Given the description of an element on the screen output the (x, y) to click on. 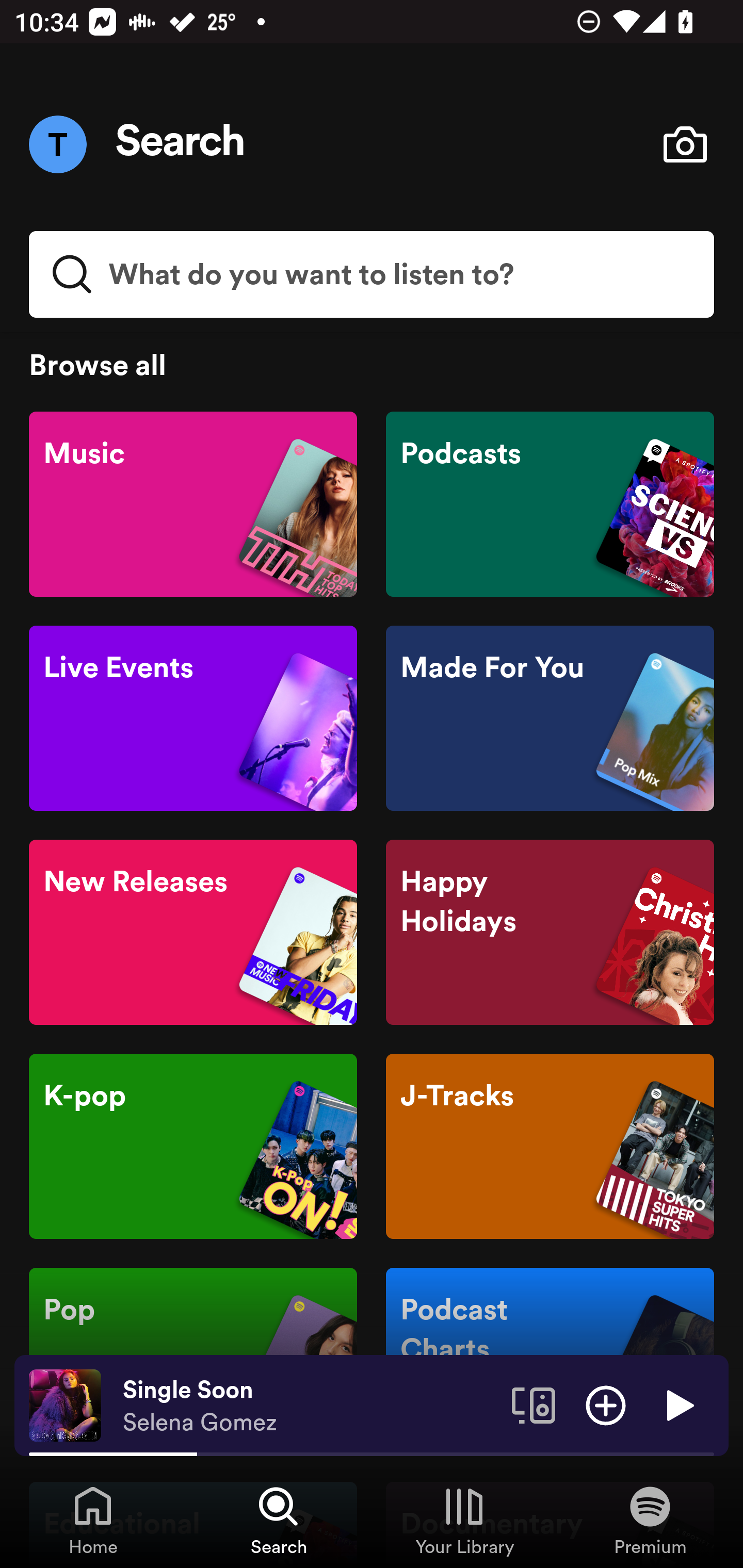
Menu (57, 144)
Open camera (685, 145)
Search (180, 144)
Music (192, 503)
Podcasts (549, 503)
Live Events (192, 717)
Made For You (549, 717)
New Releases (192, 932)
Happy Holidays (549, 932)
K-pop (192, 1145)
J-Tracks (549, 1145)
Single Soon Selena Gomez (309, 1405)
The cover art of the currently playing track (64, 1404)
Connect to a device. Opens the devices menu (533, 1404)
Add item (605, 1404)
Play (677, 1404)
Home, Tab 1 of 4 Home Home (92, 1519)
Search, Tab 2 of 4 Search Search (278, 1519)
Your Library, Tab 3 of 4 Your Library Your Library (464, 1519)
Premium, Tab 4 of 4 Premium Premium (650, 1519)
